Given the description of an element on the screen output the (x, y) to click on. 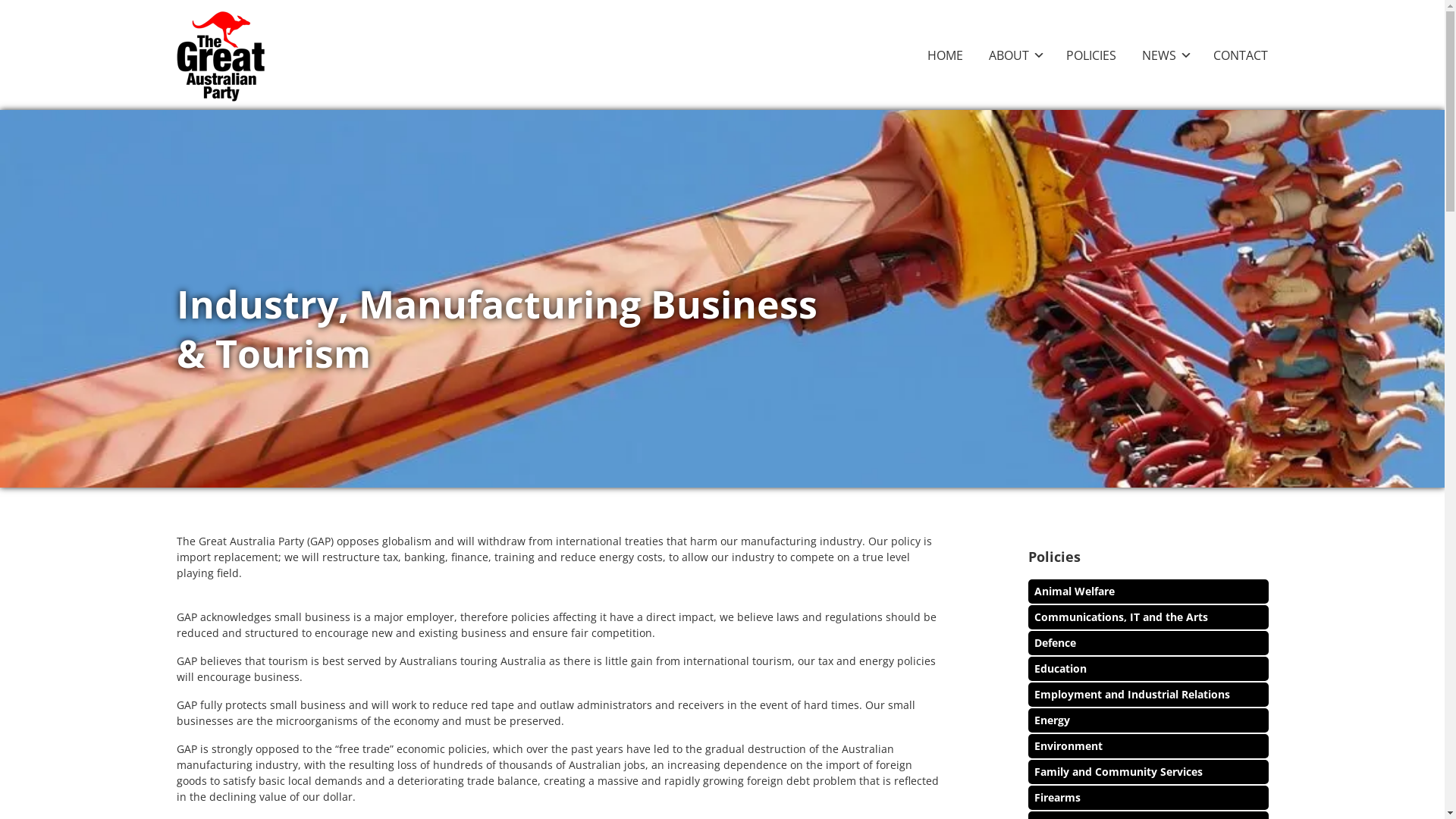
HOME Element type: text (945, 54)
NEWS Element type: text (1164, 54)
Family and Community Services Element type: text (1118, 771)
Employment and Industrial Relations Element type: text (1132, 694)
Communications, IT and the Arts Element type: text (1121, 616)
POLICIES Element type: text (1091, 54)
Education Element type: text (1060, 668)
Environment Element type: text (1068, 745)
Defence Element type: text (1055, 642)
Energy Element type: text (1052, 719)
ABOUT Element type: text (1014, 54)
CONTACT Element type: text (1240, 54)
Animal Welfare Element type: text (1074, 590)
Firearms Element type: text (1057, 797)
